Given the description of an element on the screen output the (x, y) to click on. 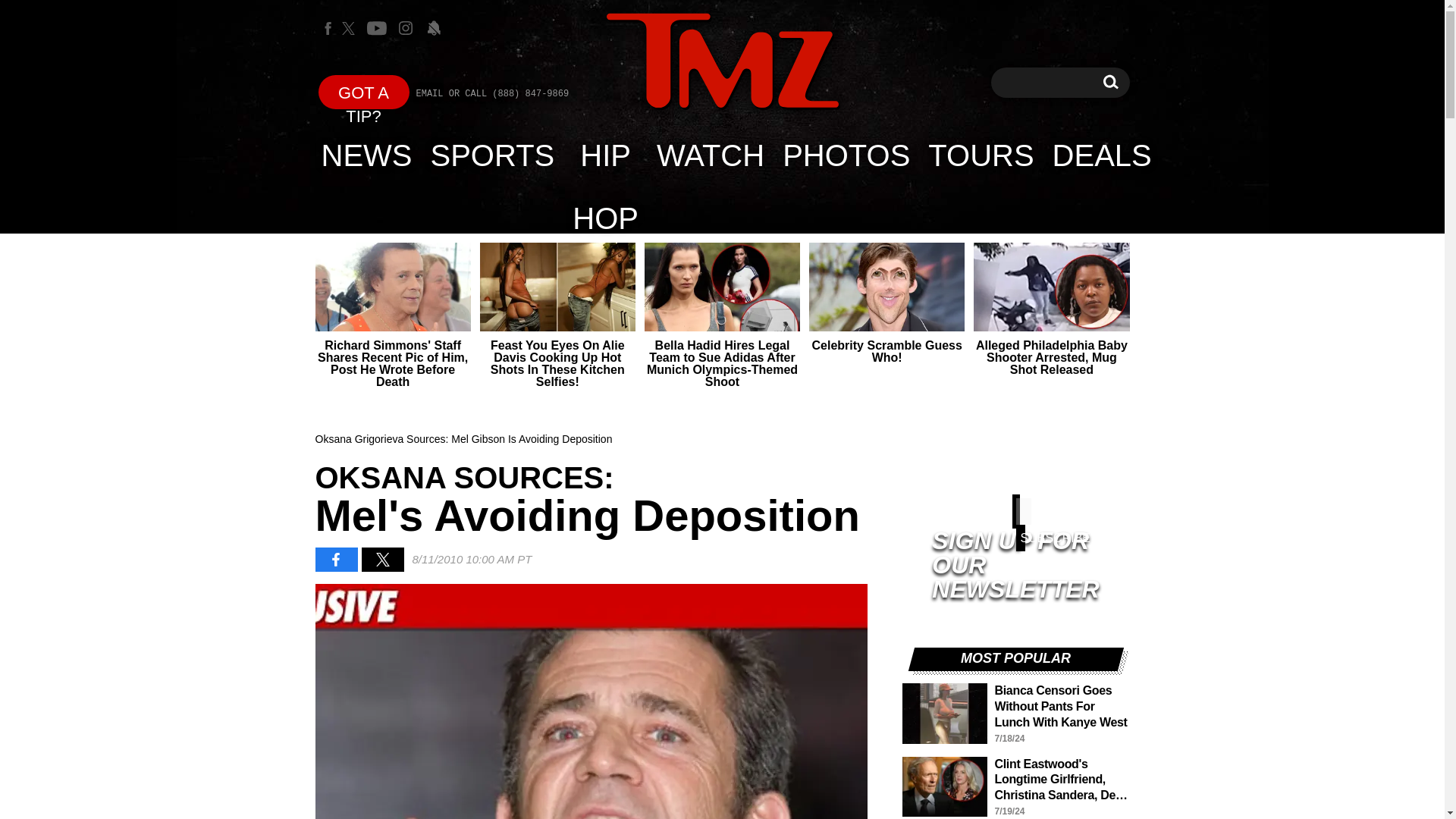
DEALS (1101, 154)
WATCH (710, 154)
Search (1110, 81)
GOT A TIP? (363, 91)
TOURS (980, 154)
SPORTS (493, 154)
HIP HOP (605, 154)
TMZ (722, 62)
TMZ (722, 60)
PHOTOS (1110, 82)
NEWS (845, 154)
